Given the description of an element on the screen output the (x, y) to click on. 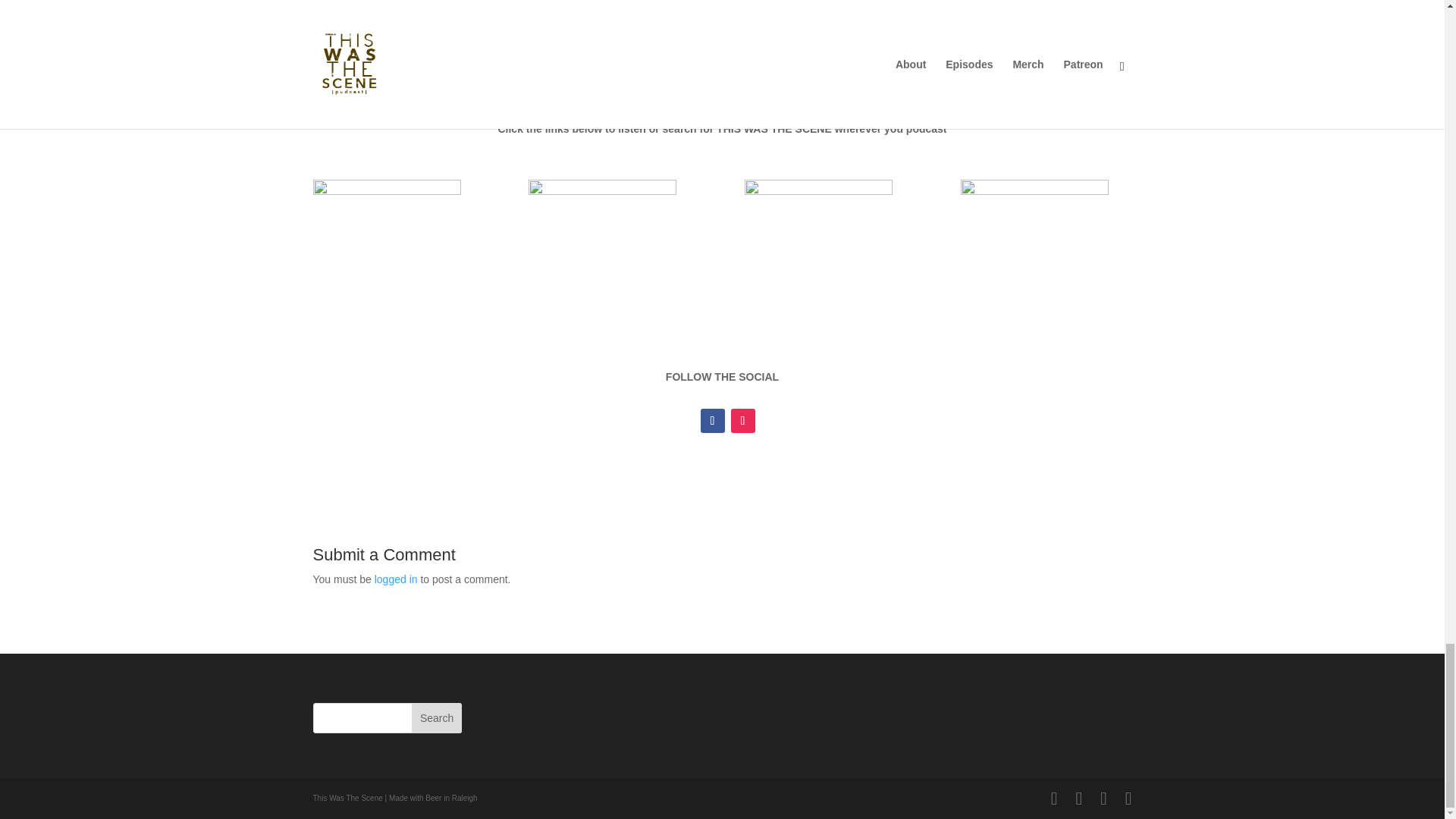
Search (436, 717)
Search (436, 717)
Follow on Instagram (742, 420)
logged in (395, 579)
Follow on Facebook (712, 420)
